Given the description of an element on the screen output the (x, y) to click on. 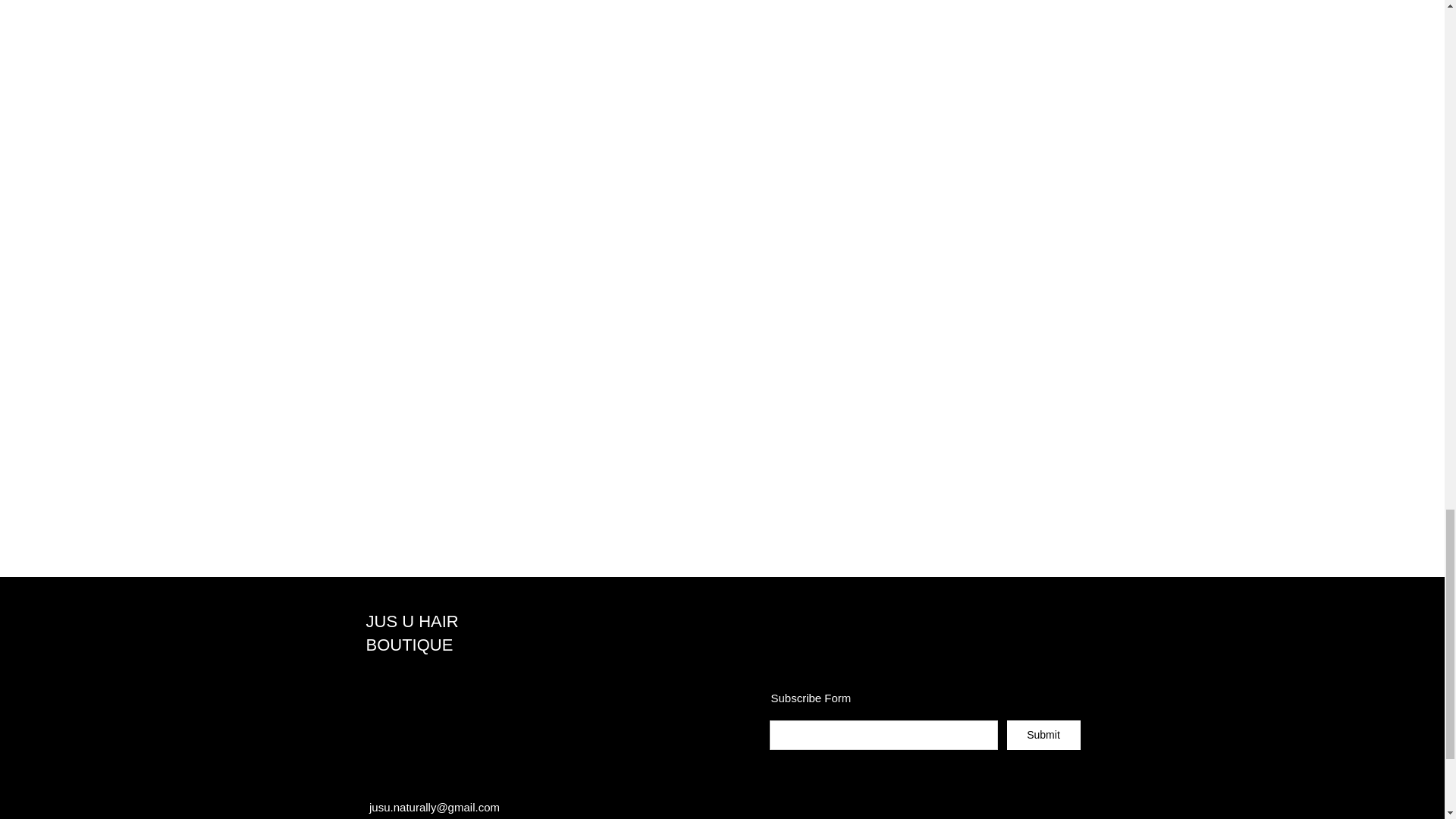
JUS U HAIR BOUTIQUE (411, 632)
Submit (1043, 735)
